Given the description of an element on the screen output the (x, y) to click on. 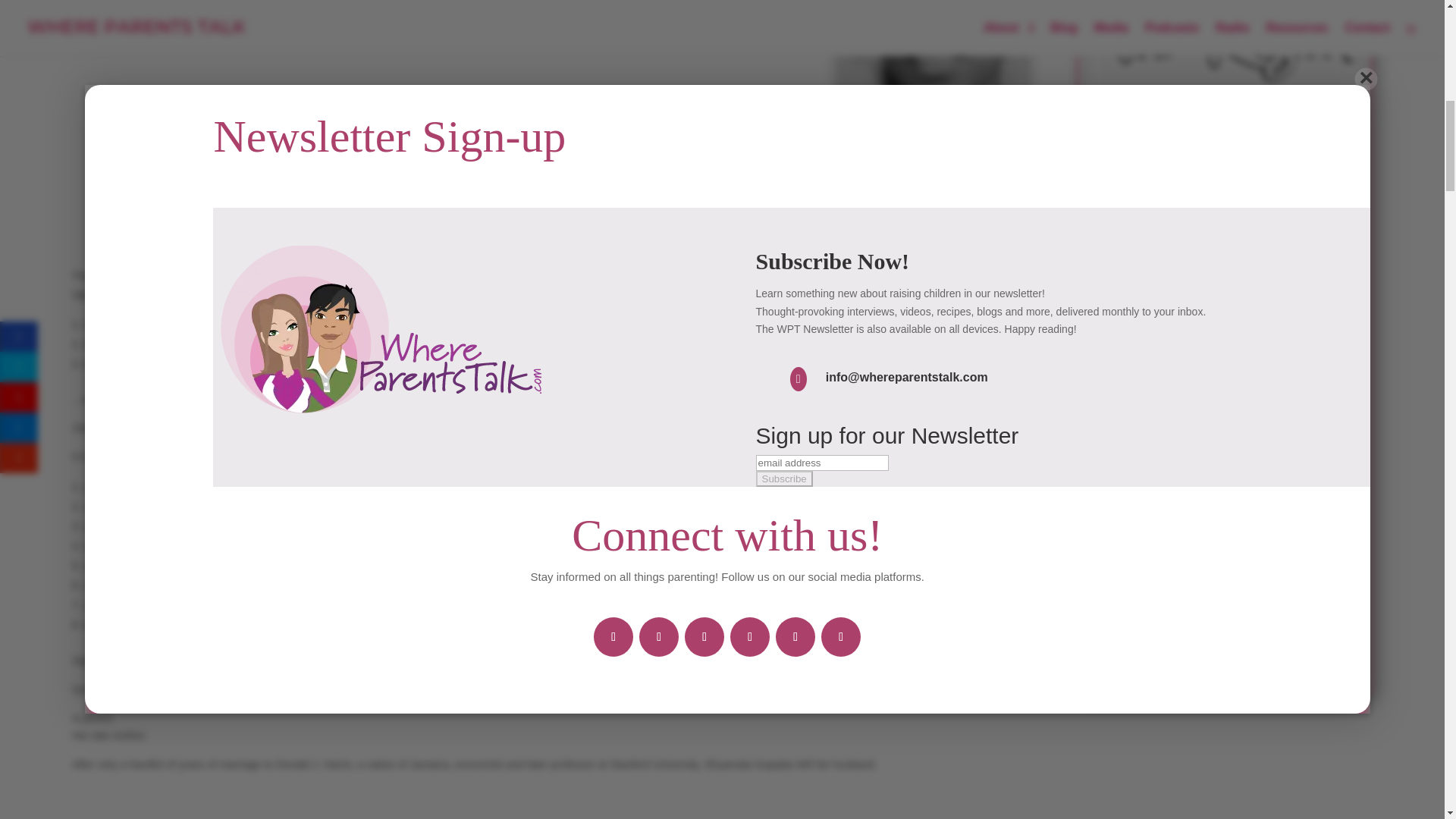
Region logo white (1224, 44)
Maya Harris (931, 231)
